Given the description of an element on the screen output the (x, y) to click on. 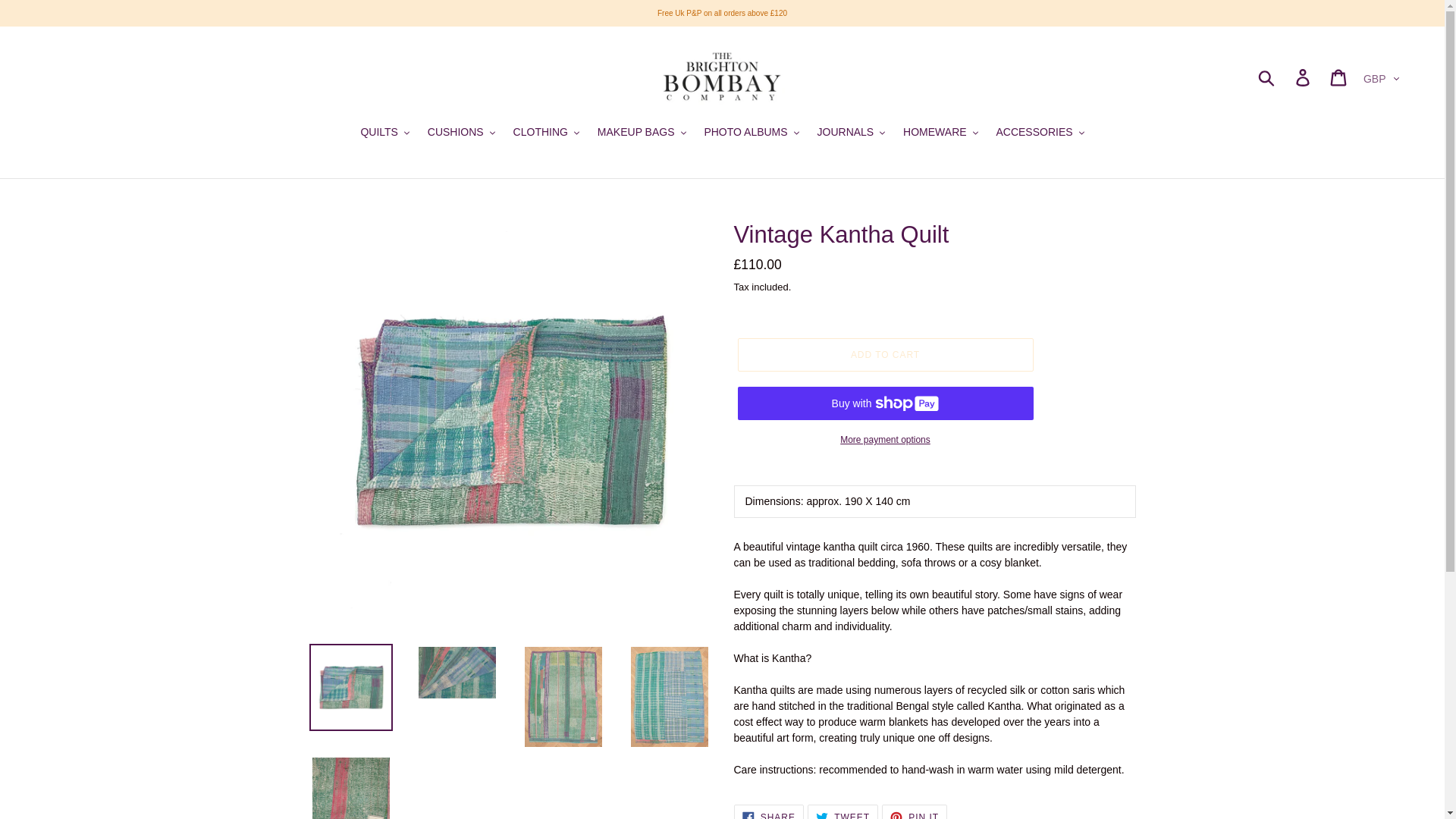
Cart (1339, 76)
Submit (1267, 77)
Log in (1303, 76)
Dimensions: approx. 190 X 140 cm (934, 511)
